Given the description of an element on the screen output the (x, y) to click on. 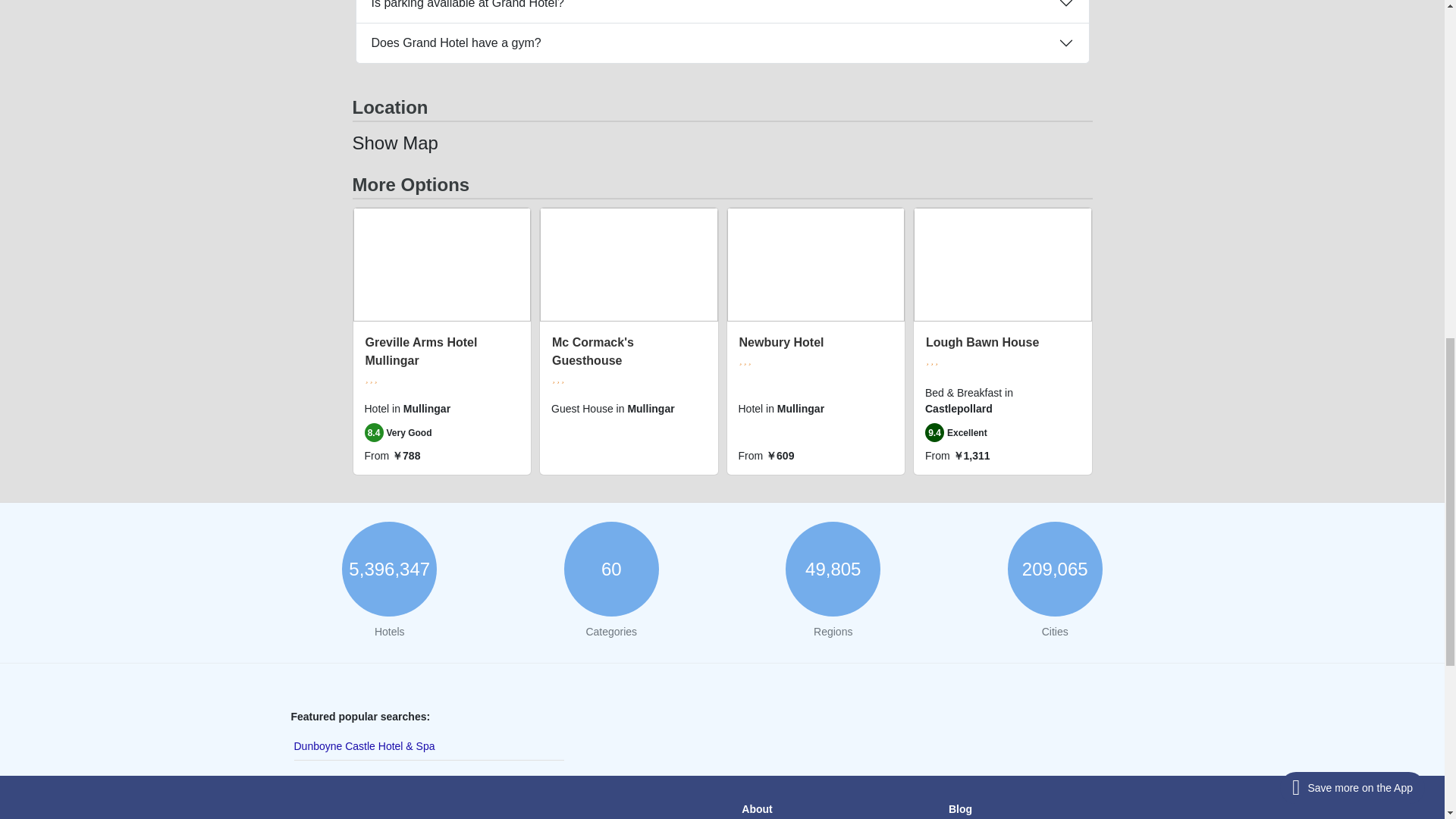
Mc Cormack's Guesthouse (592, 350)
About (756, 808)
Greville Arms Hotel Mullingar (421, 350)
Greville Arms Hotel Mullingar (421, 350)
Newbury Hotel (781, 341)
Is parking available at Grand Hotel? (722, 11)
Show Map (395, 142)
Mc Cormack's Guesthouse (592, 350)
Lough Bawn House (982, 341)
Does Grand Hotel have a gym? (722, 43)
